Given the description of an element on the screen output the (x, y) to click on. 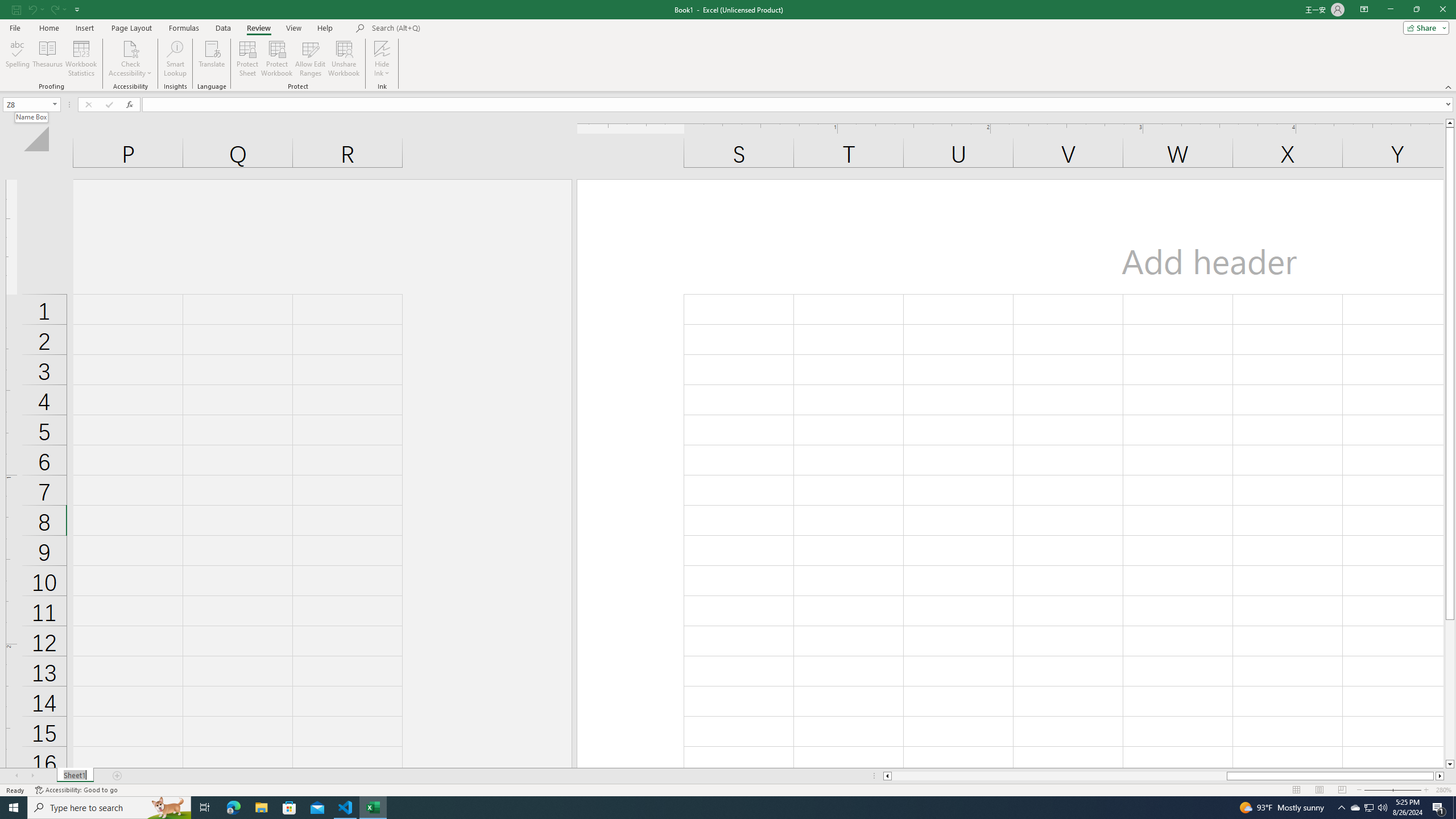
Check Accessibility (129, 48)
Smart Lookup (175, 58)
Page left (1059, 775)
Class: MsoCommandBar (728, 45)
